Given the description of an element on the screen output the (x, y) to click on. 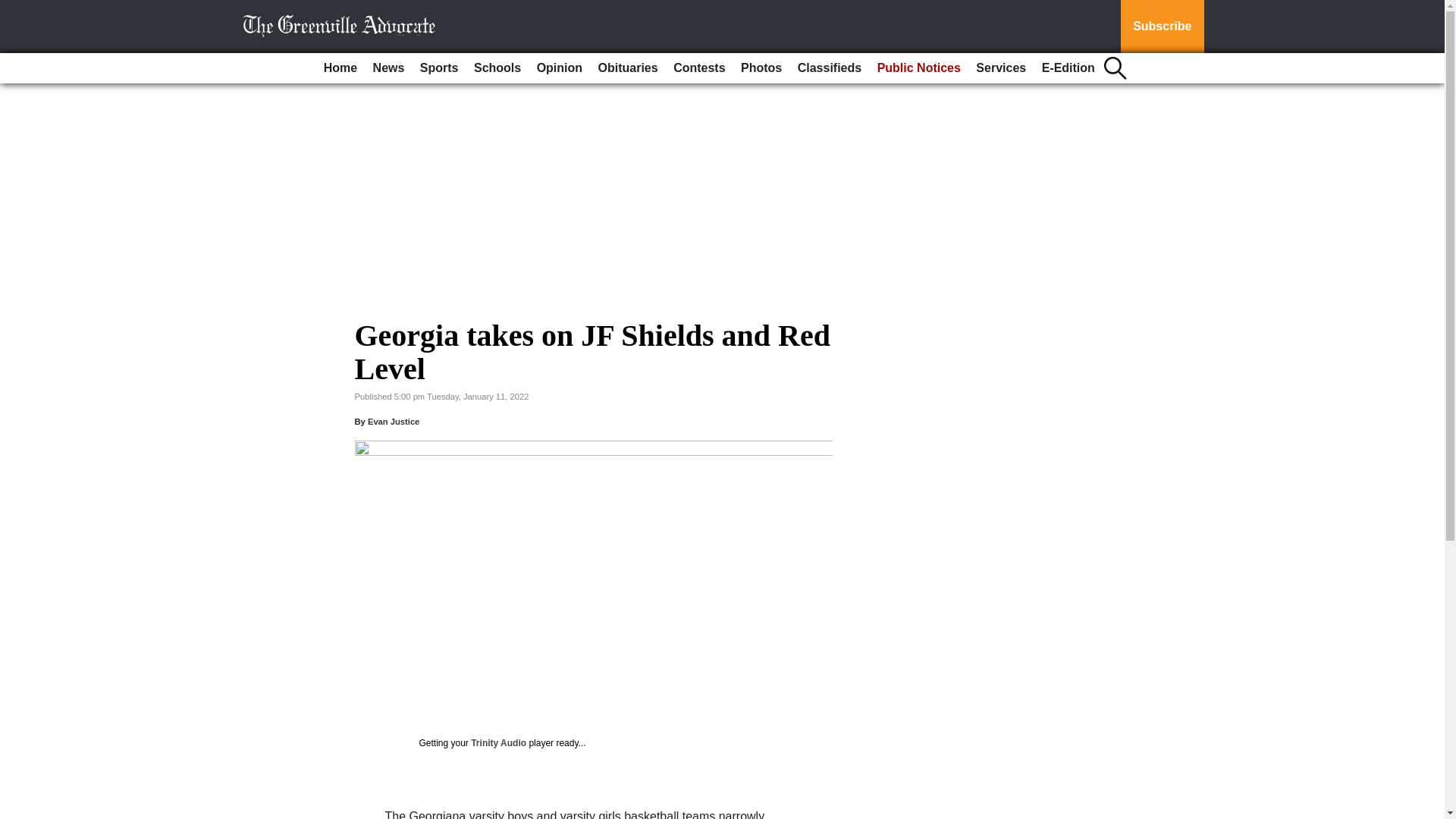
Photos (761, 68)
Subscribe (1162, 26)
Evan Justice (393, 420)
Classifieds (829, 68)
Home (339, 68)
Sports (438, 68)
Go (13, 9)
Schools (497, 68)
Trinity Audio (497, 742)
Services (1000, 68)
News (388, 68)
Public Notices (918, 68)
Opinion (559, 68)
E-Edition (1067, 68)
Obituaries (627, 68)
